Given the description of an element on the screen output the (x, y) to click on. 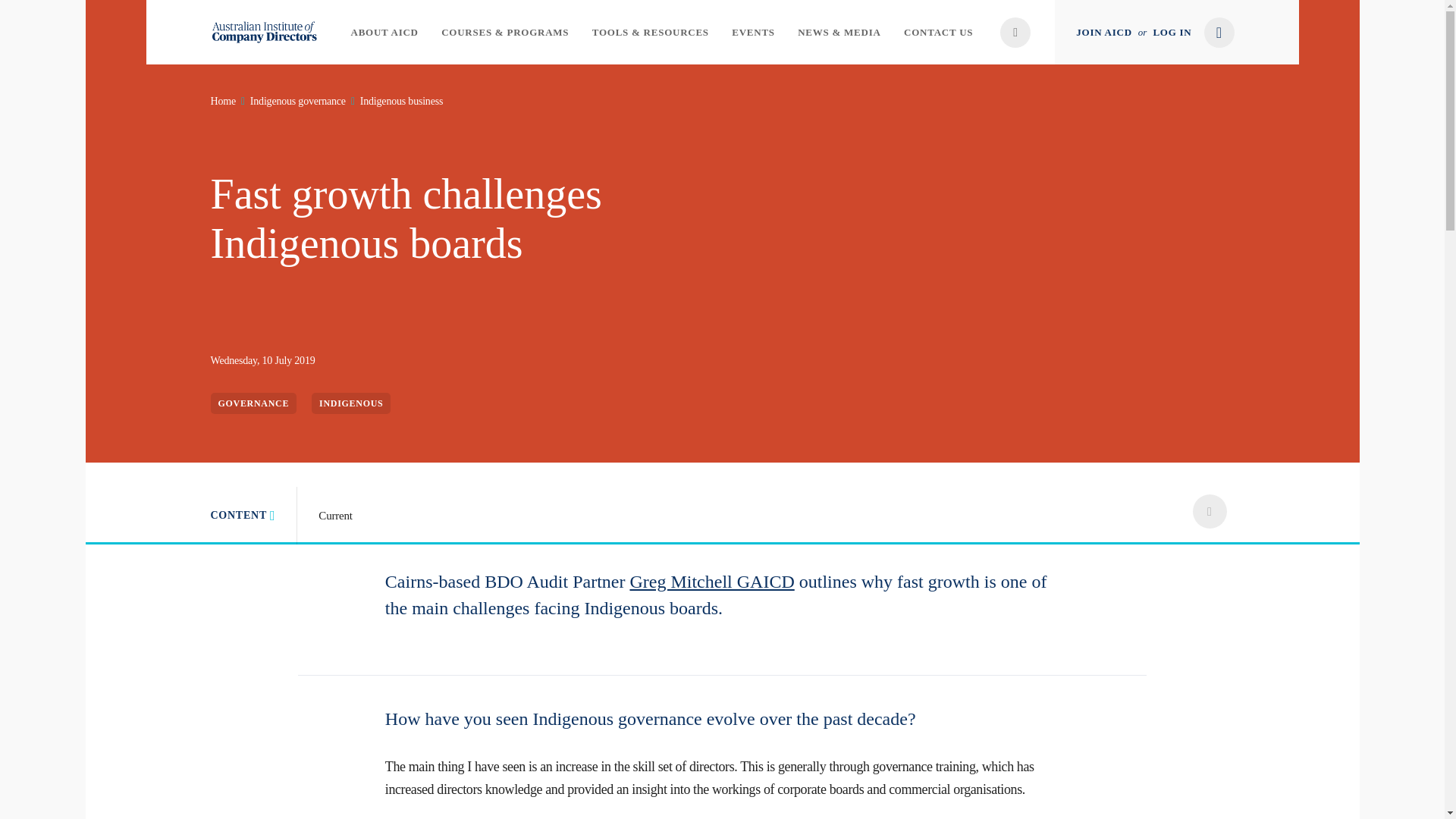
ABOUT AICD (383, 32)
social share icons (1208, 511)
